Given the description of an element on the screen output the (x, y) to click on. 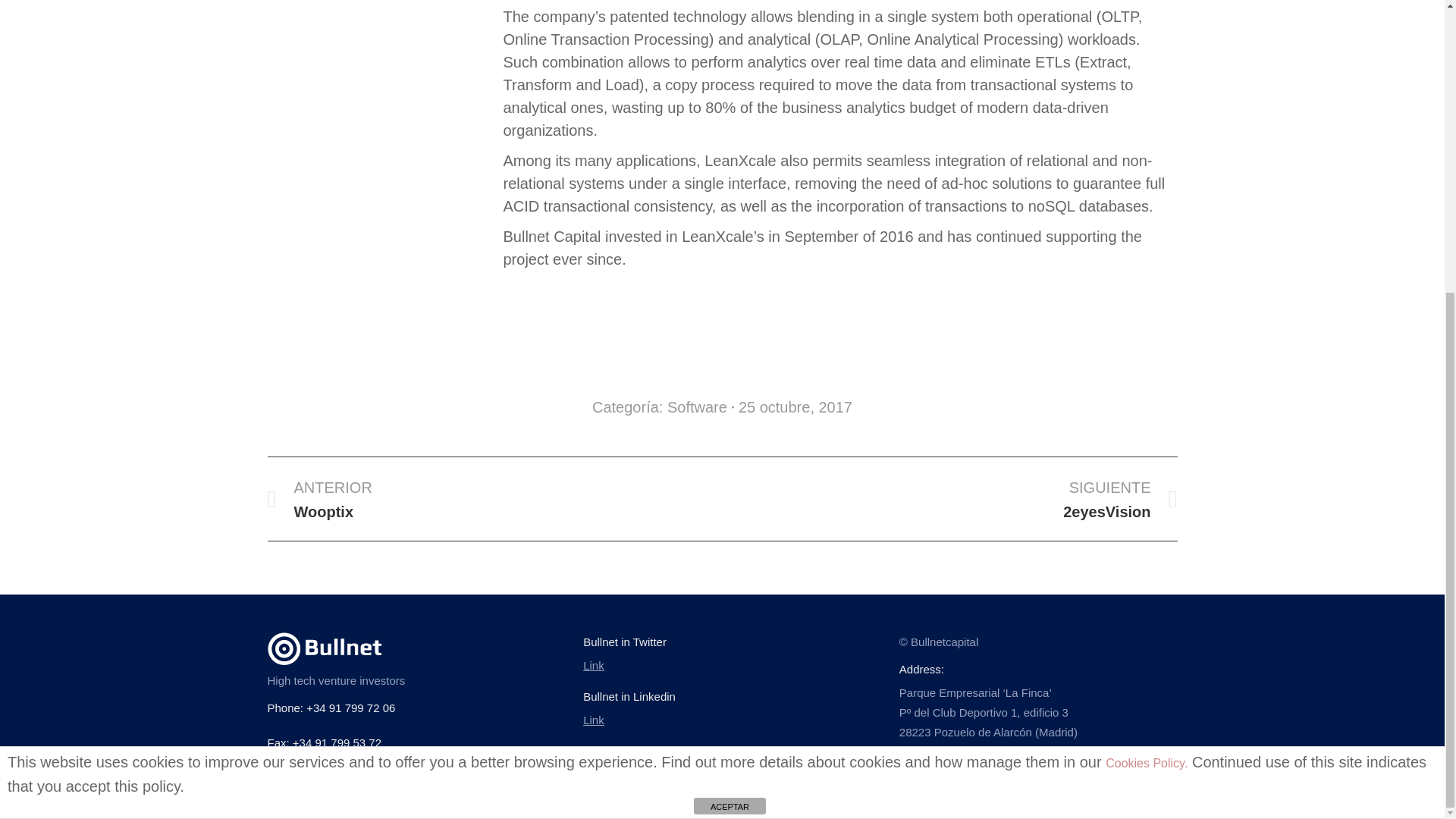
12:55 pm (794, 406)
